Given the description of an element on the screen output the (x, y) to click on. 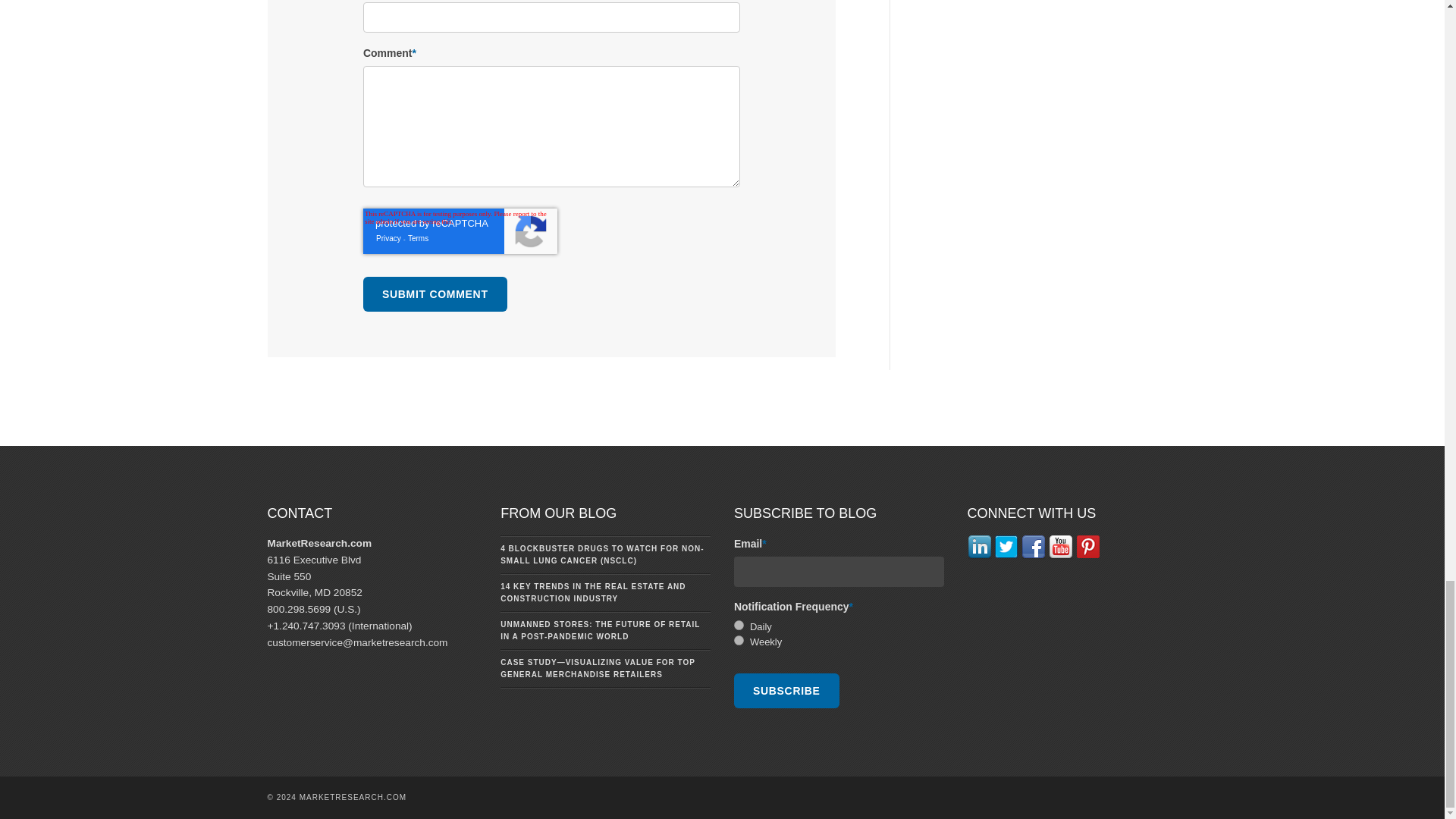
reCAPTCHA (459, 230)
weekly (738, 640)
daily (738, 624)
Submit Comment (434, 294)
Subscribe (786, 690)
Submit Comment (434, 294)
